Given the description of an element on the screen output the (x, y) to click on. 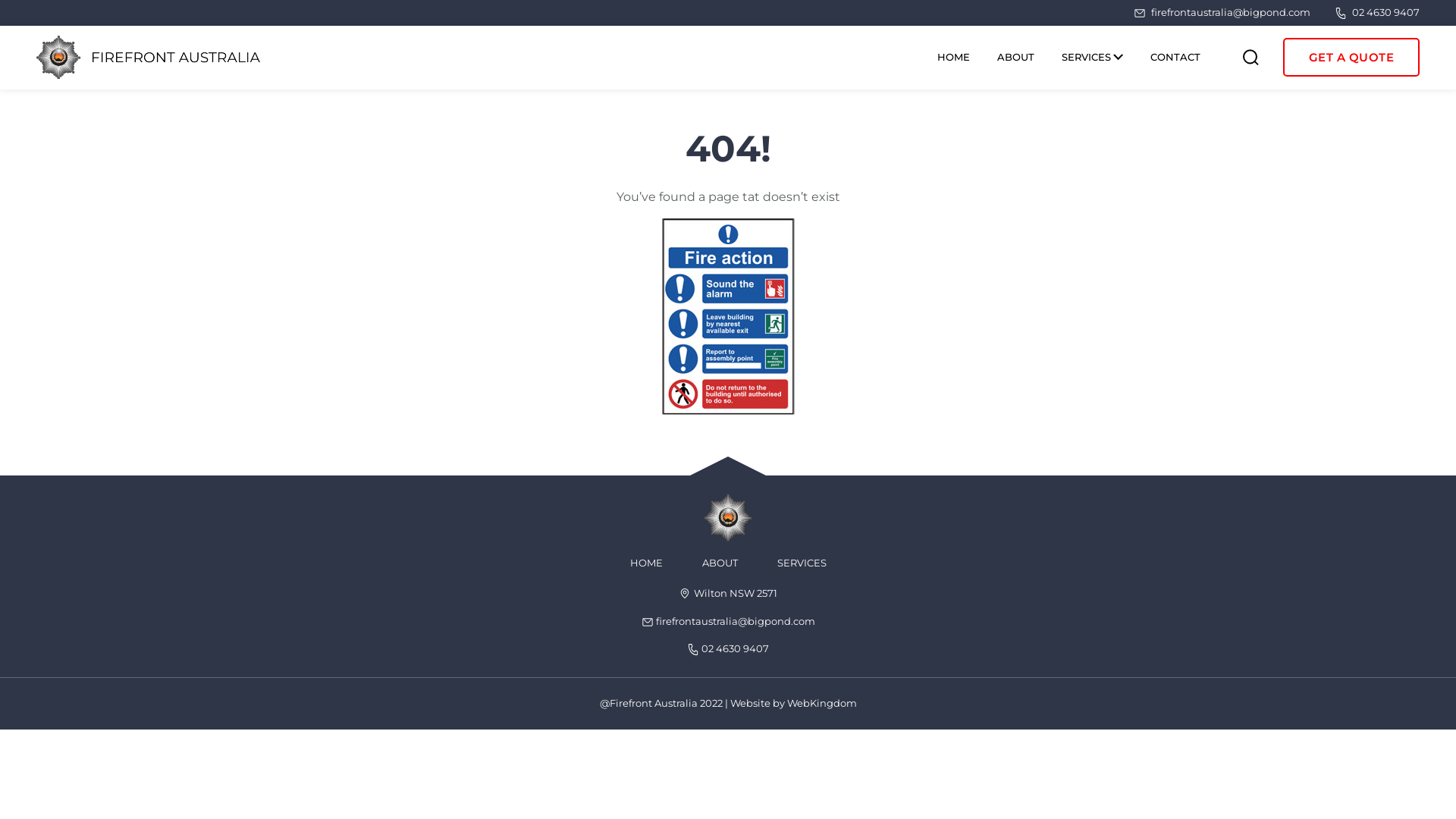
02 4630 9407 Element type: text (1376, 12)
GET A QUOTE Element type: text (1351, 56)
Firefront Fire Safety Australia Element type: hover (148, 56)
firefrontaustralia@bigpond.com Element type: text (728, 621)
WebKingdom Element type: text (821, 702)
ABOUT Element type: text (719, 562)
HOME Element type: text (953, 57)
ABOUT Element type: text (1014, 57)
02 4630 9407 Element type: text (727, 648)
SERVICES Element type: text (800, 562)
HOME Element type: text (645, 562)
CONTACT Element type: text (1174, 57)
SERVICES Element type: text (1092, 57)
firefrontaustralia@bigpond.com Element type: text (1221, 12)
